Given the description of an element on the screen output the (x, y) to click on. 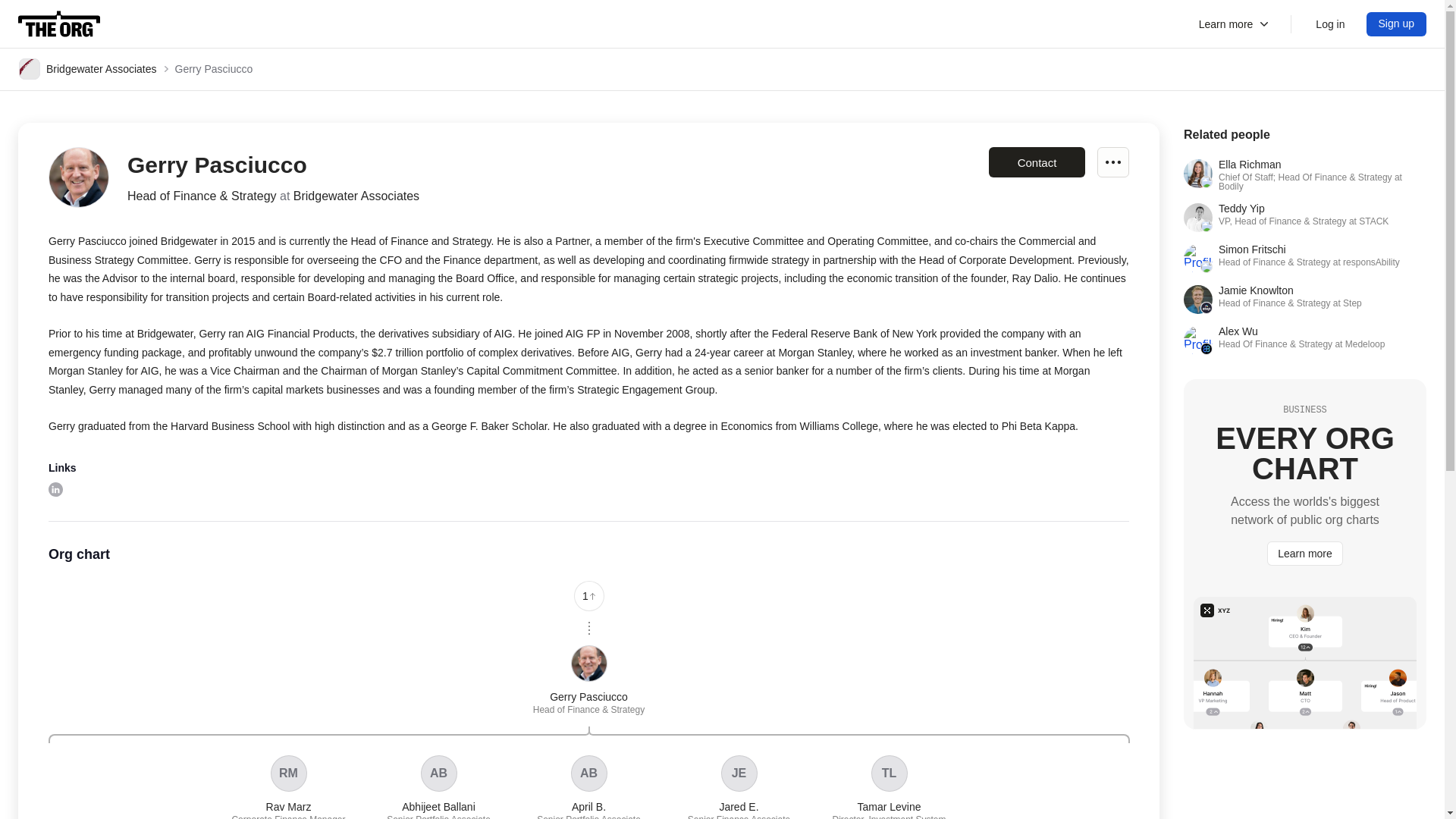
Bridgewater Associates (287, 787)
The Org Home (87, 68)
Sign up (58, 23)
Join, edit and report menu (1396, 24)
View on linkedIn (437, 787)
